Given the description of an element on the screen output the (x, y) to click on. 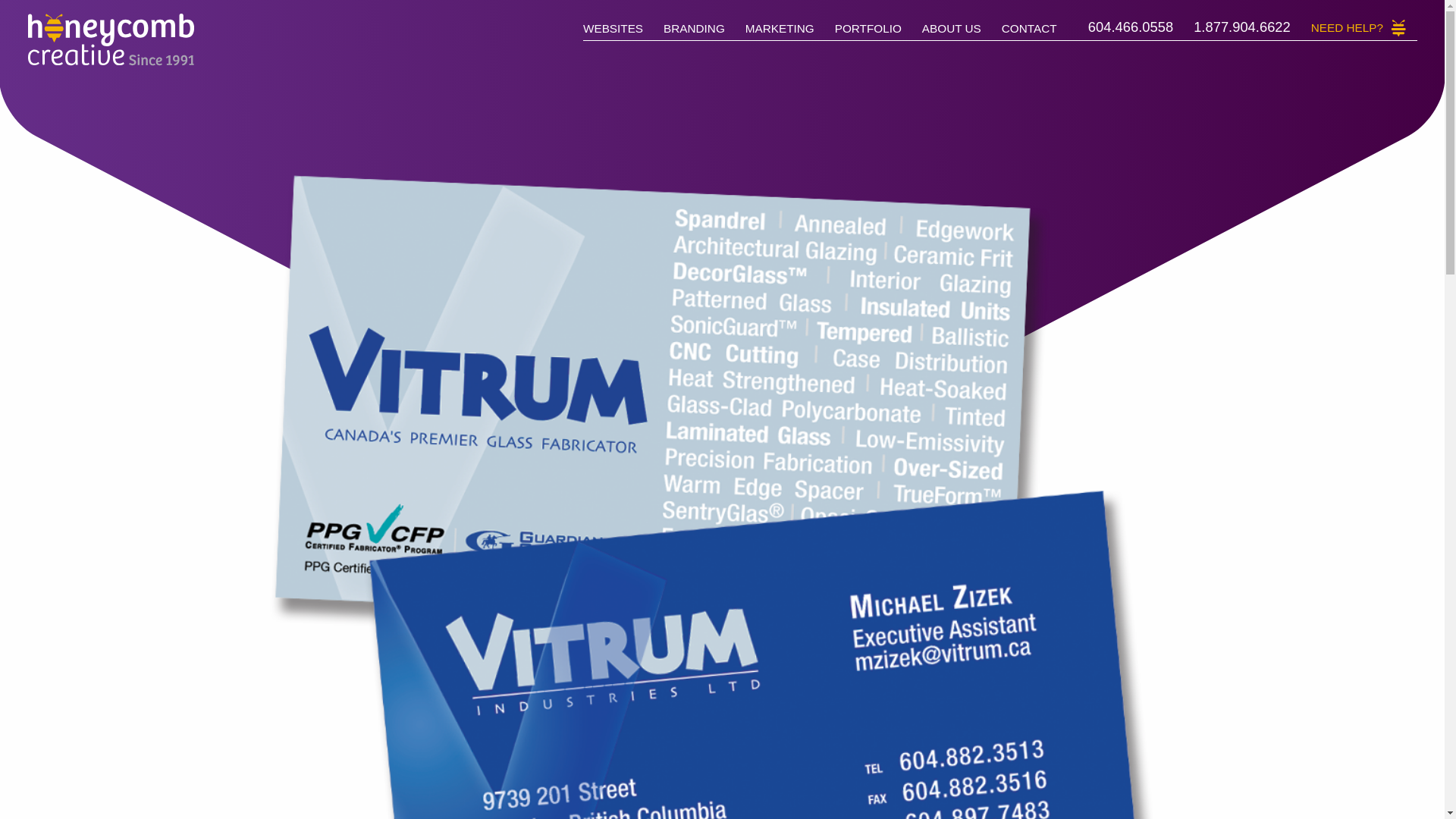
BRANDING (694, 27)
NEED HELP? (1358, 27)
MARKETING (779, 27)
1.877.904.6622 (1242, 26)
Honeycomb Creative Inc. (110, 39)
PORTFOLIO (867, 27)
ABOUT US (951, 27)
WEBSITES (618, 27)
604.466.0558 (1129, 26)
CONTACT (1029, 27)
Honeycomb Creative Inc. - Return to home page (110, 39)
